Given the description of an element on the screen output the (x, y) to click on. 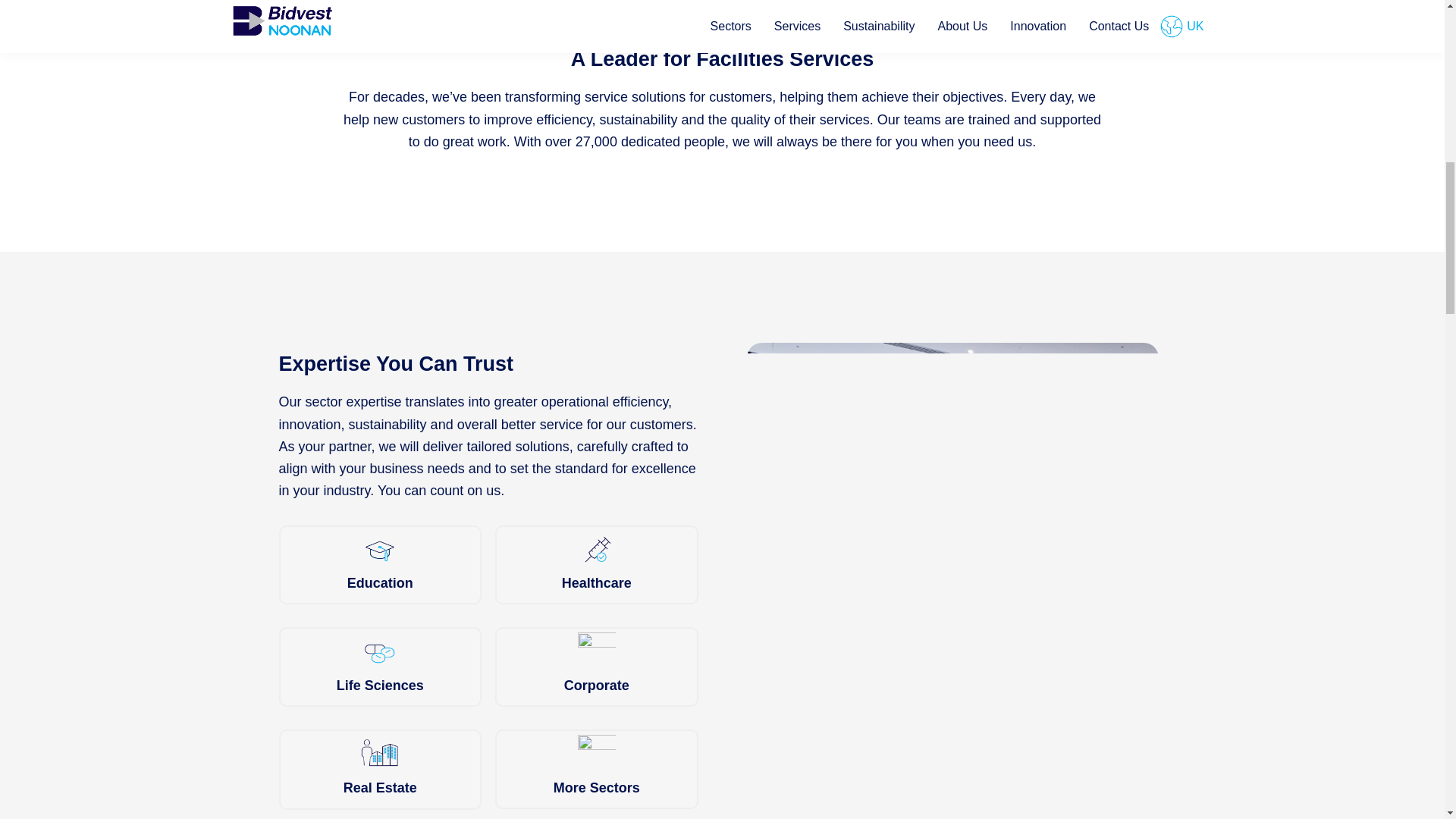
Real Estate (380, 769)
Education (380, 565)
Life Sciences (380, 666)
